Given the description of an element on the screen output the (x, y) to click on. 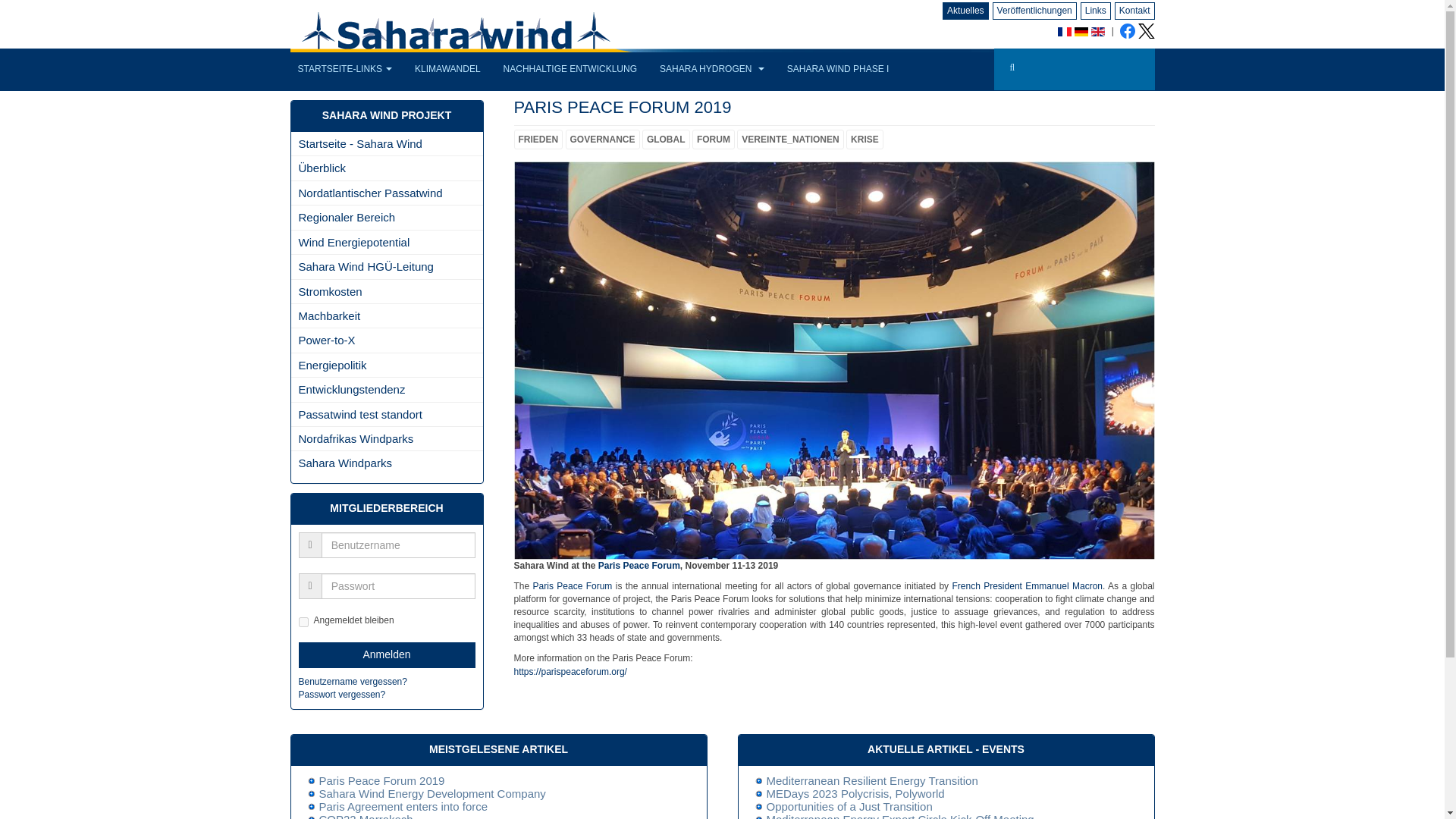
Links (1095, 10)
twitter (1145, 35)
Deutsch (1080, 31)
twitter (1145, 31)
Paris Peace Forum 2019 (622, 107)
Anmelden (387, 655)
Facebook (1128, 35)
yes (303, 622)
Kontakt (1134, 10)
Aktuelles (965, 10)
facebook (1128, 35)
facebook (1127, 30)
